Given the description of an element on the screen output the (x, y) to click on. 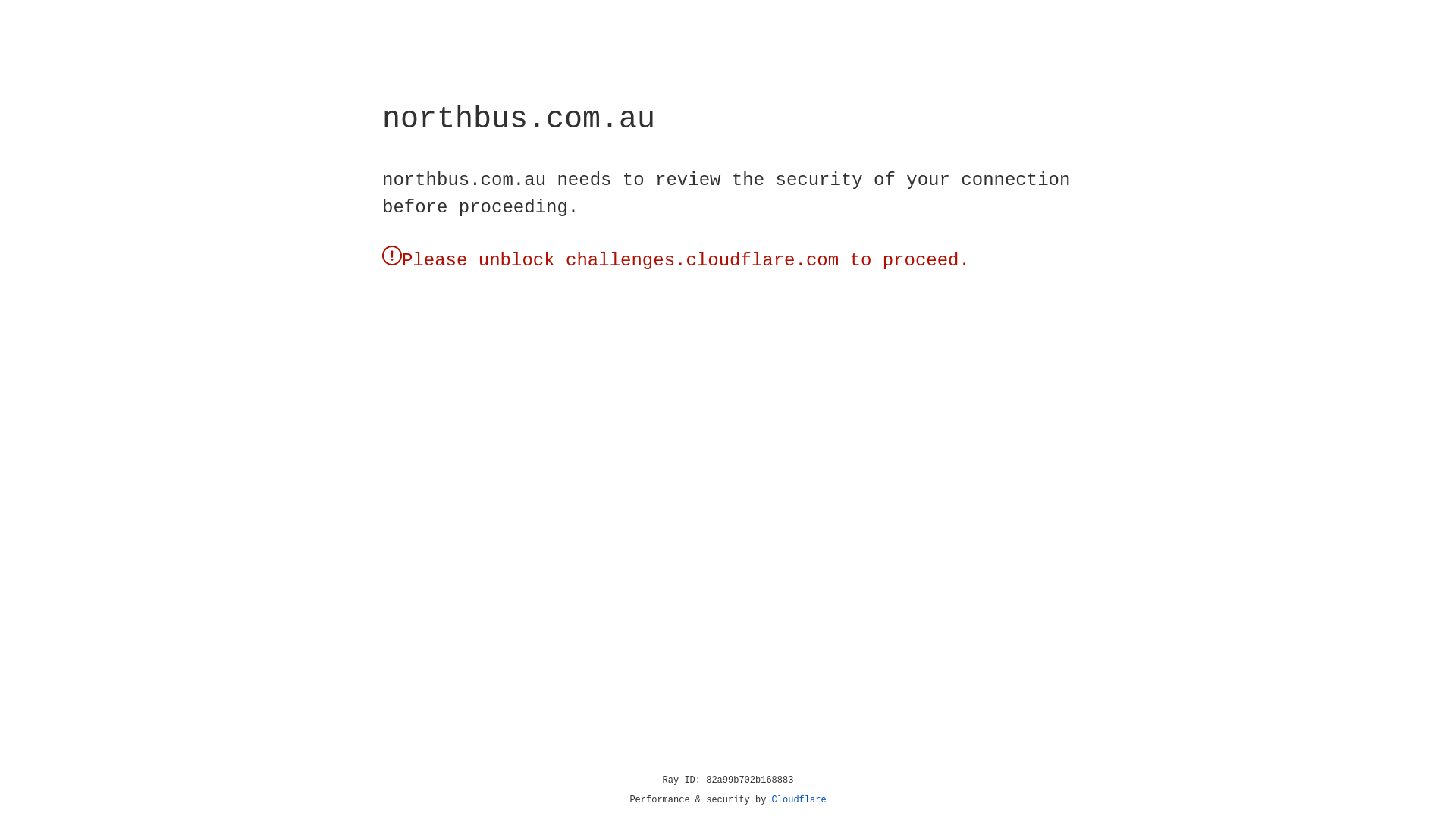
Cloudflare Element type: text (798, 799)
